Given the description of an element on the screen output the (x, y) to click on. 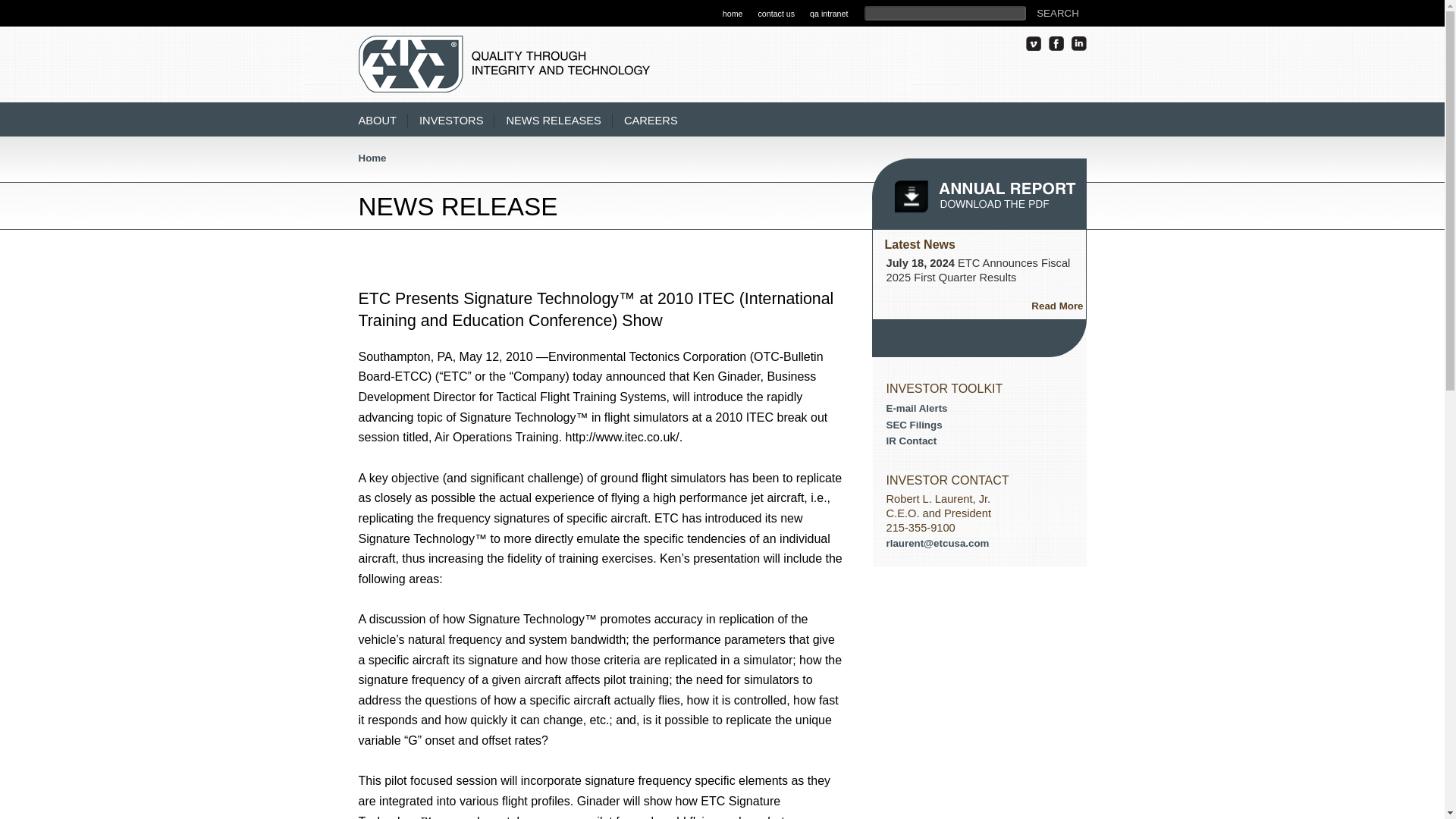
E-mail Alerts (916, 408)
ABOUT (382, 120)
contact us (775, 13)
SEC Filings (913, 424)
qa intranet (828, 13)
Search (1057, 12)
Read More (1046, 302)
CAREERS (656, 120)
home (732, 13)
NEWS RELEASES (558, 120)
Home (371, 157)
Search (1057, 12)
NEWS RELEASE (457, 206)
INVESTORS (457, 120)
